Given the description of an element on the screen output the (x, y) to click on. 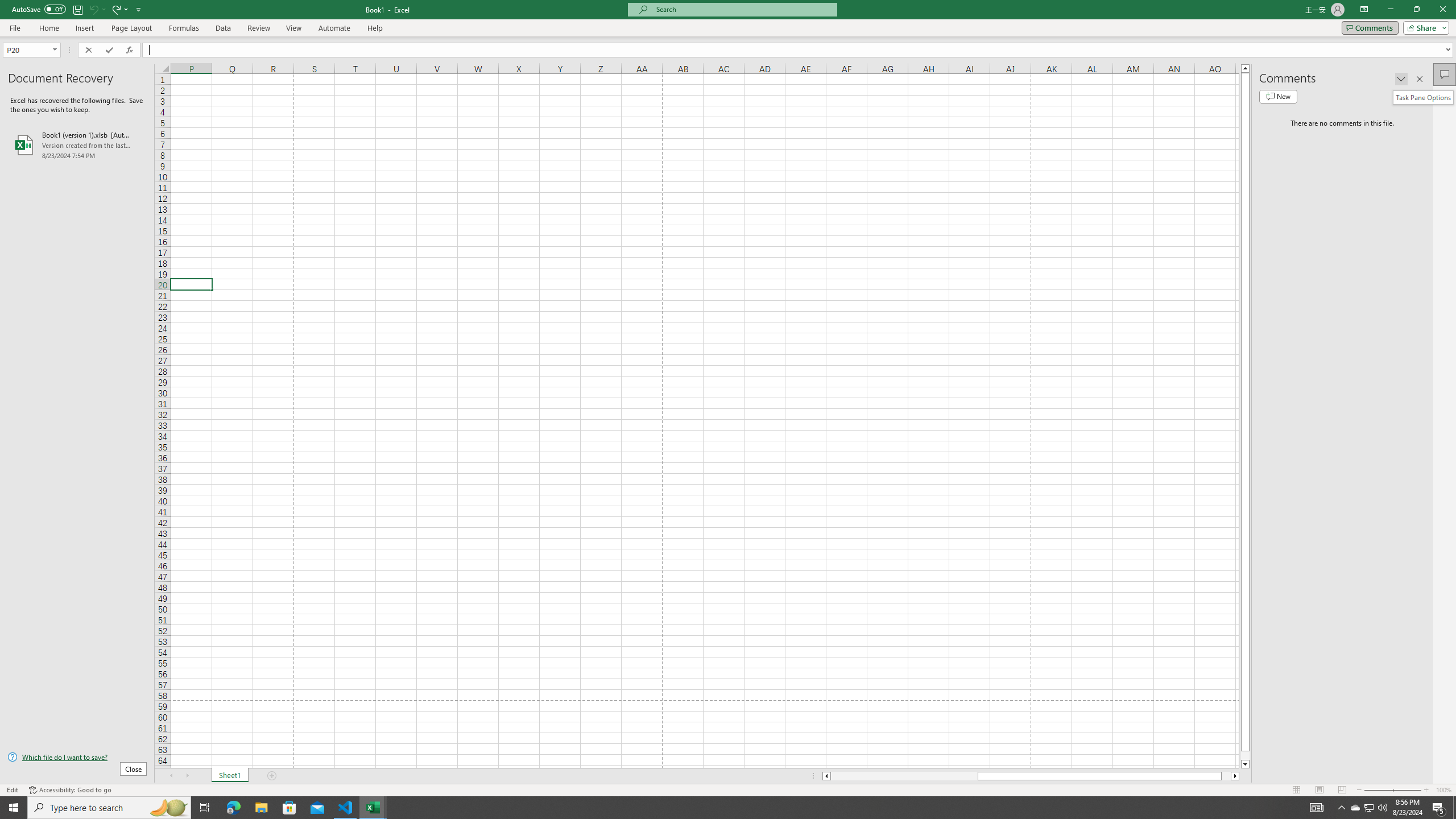
Which file do I want to save? (77, 757)
